Given the description of an element on the screen output the (x, y) to click on. 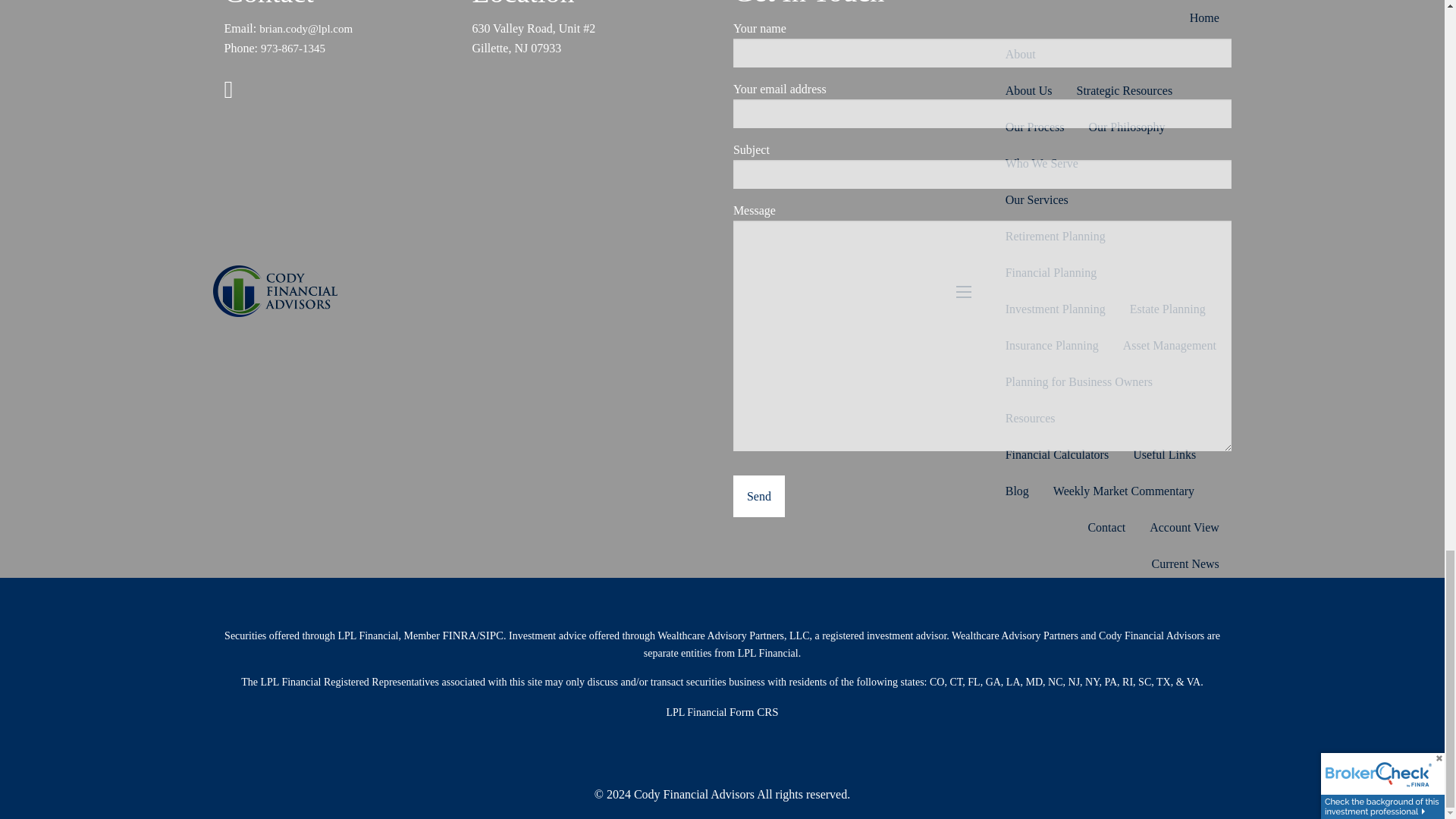
973-867-1345 (292, 48)
Send (758, 495)
SIPC (491, 635)
Send (758, 495)
FINRA (459, 635)
Form CRS (753, 711)
